Given the description of an element on the screen output the (x, y) to click on. 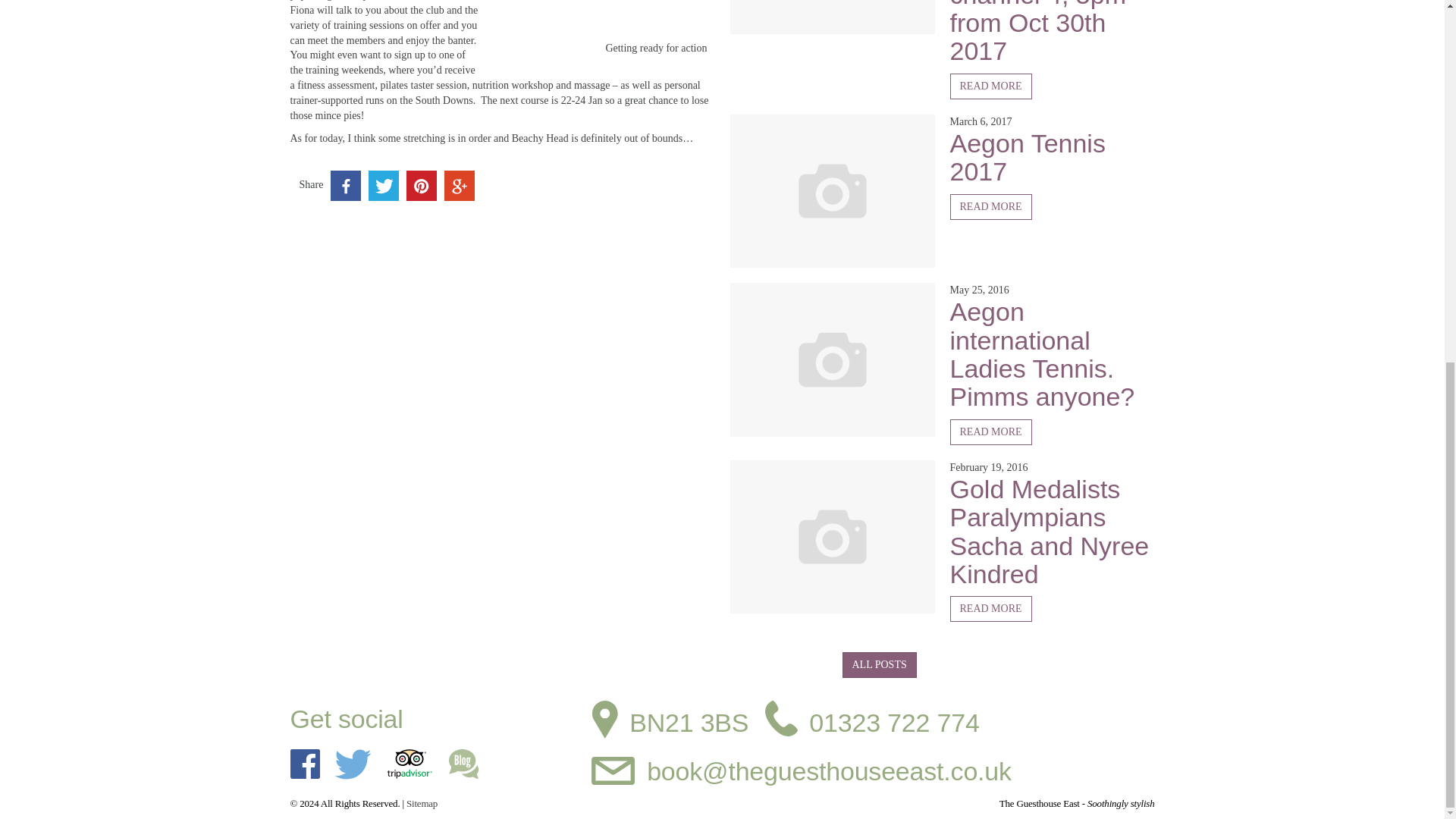
Stretching on the South Downs (601, 31)
READ MORE (989, 432)
Aegon international Ladies Tennis. Pimms anyone? (1041, 354)
READ MORE (989, 86)
Aegon Tennis 2017 (1027, 156)
READ MORE (989, 207)
